Given the description of an element on the screen output the (x, y) to click on. 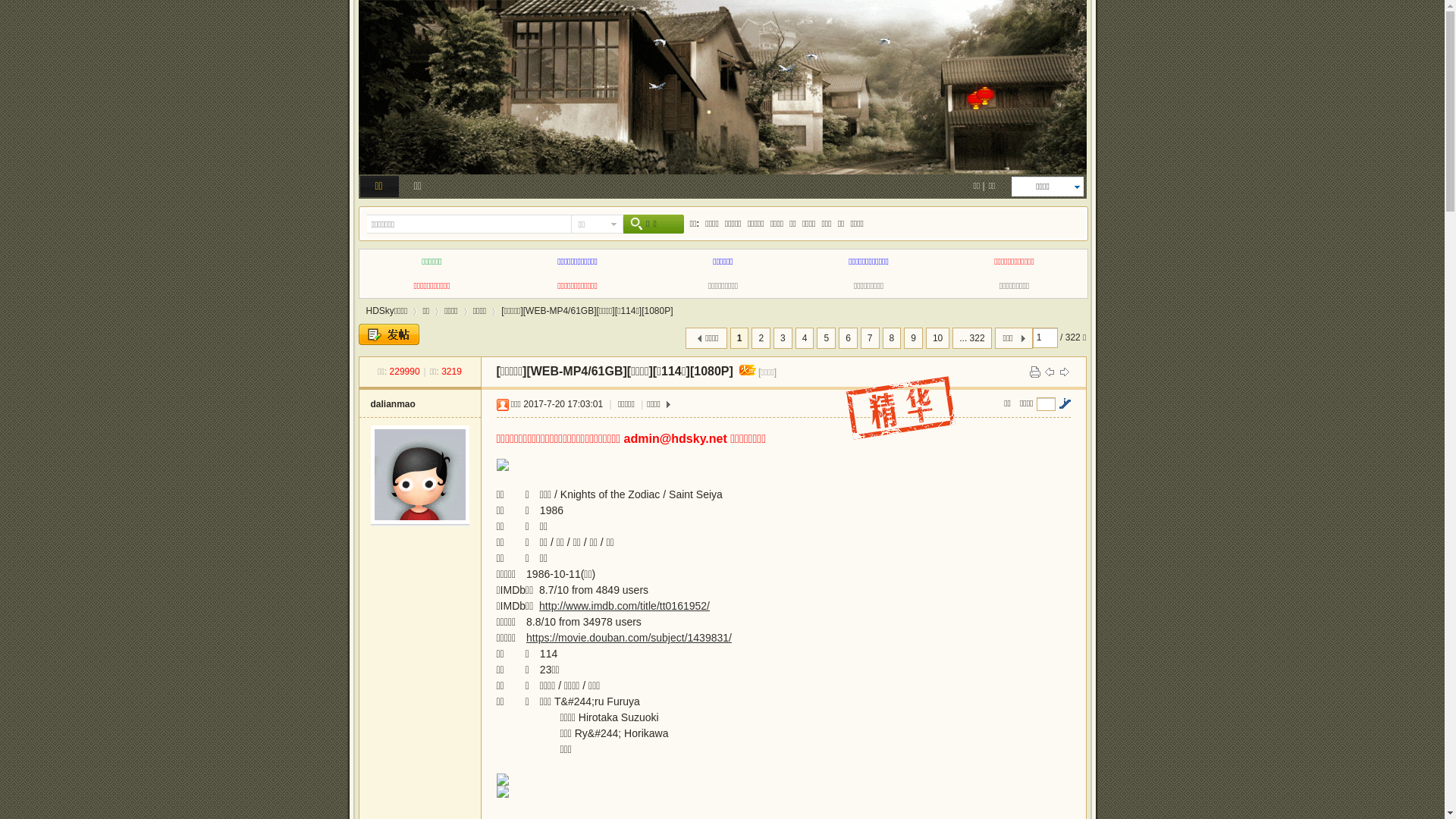
7 Element type: text (869, 337)
3 Element type: text (782, 337)
4 Element type: text (804, 337)
6 Element type: text (847, 337)
8 Element type: text (891, 337)
5 Element type: text (825, 337)
9 Element type: text (912, 337)
10 Element type: text (937, 337)
dalianmao Element type: text (392, 403)
https://movie.douban.com/subject/1439831/ Element type: text (628, 637)
... 322 Element type: text (971, 337)
http://www.imdb.com/title/tt0161952/ Element type: text (624, 605)
2 Element type: text (760, 337)
